Given the description of an element on the screen output the (x, y) to click on. 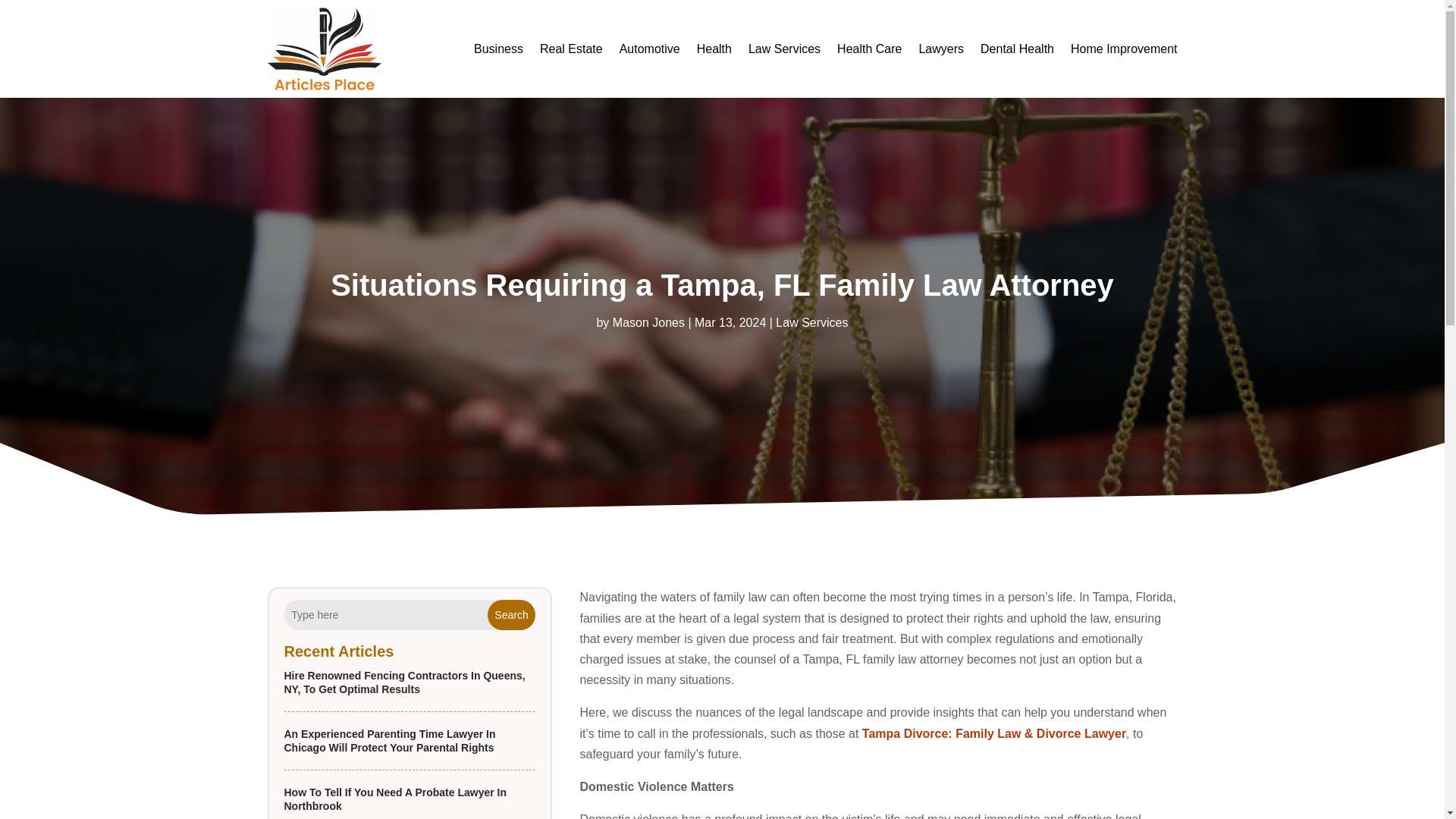
How To Tell If You Need A Probate Lawyer In Northbrook (394, 799)
Search (511, 614)
Mason Jones (648, 322)
Posts by Mason Jones (648, 322)
Law Services (811, 322)
Dental Health (1016, 48)
Home Improvement (1123, 48)
